Given the description of an element on the screen output the (x, y) to click on. 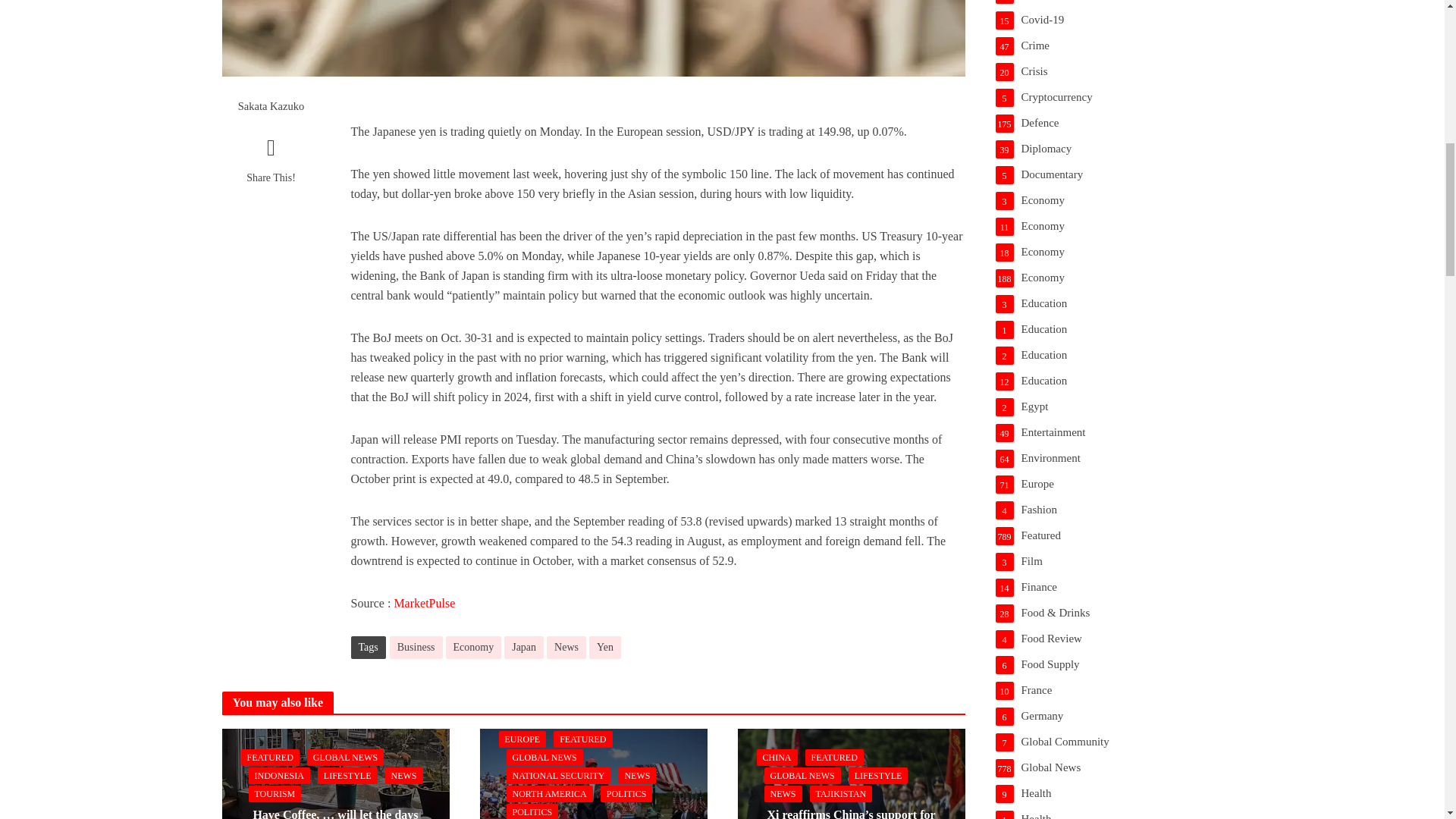
One must not take Trump at his word, says Juncker (592, 802)
